Given the description of an element on the screen output the (x, y) to click on. 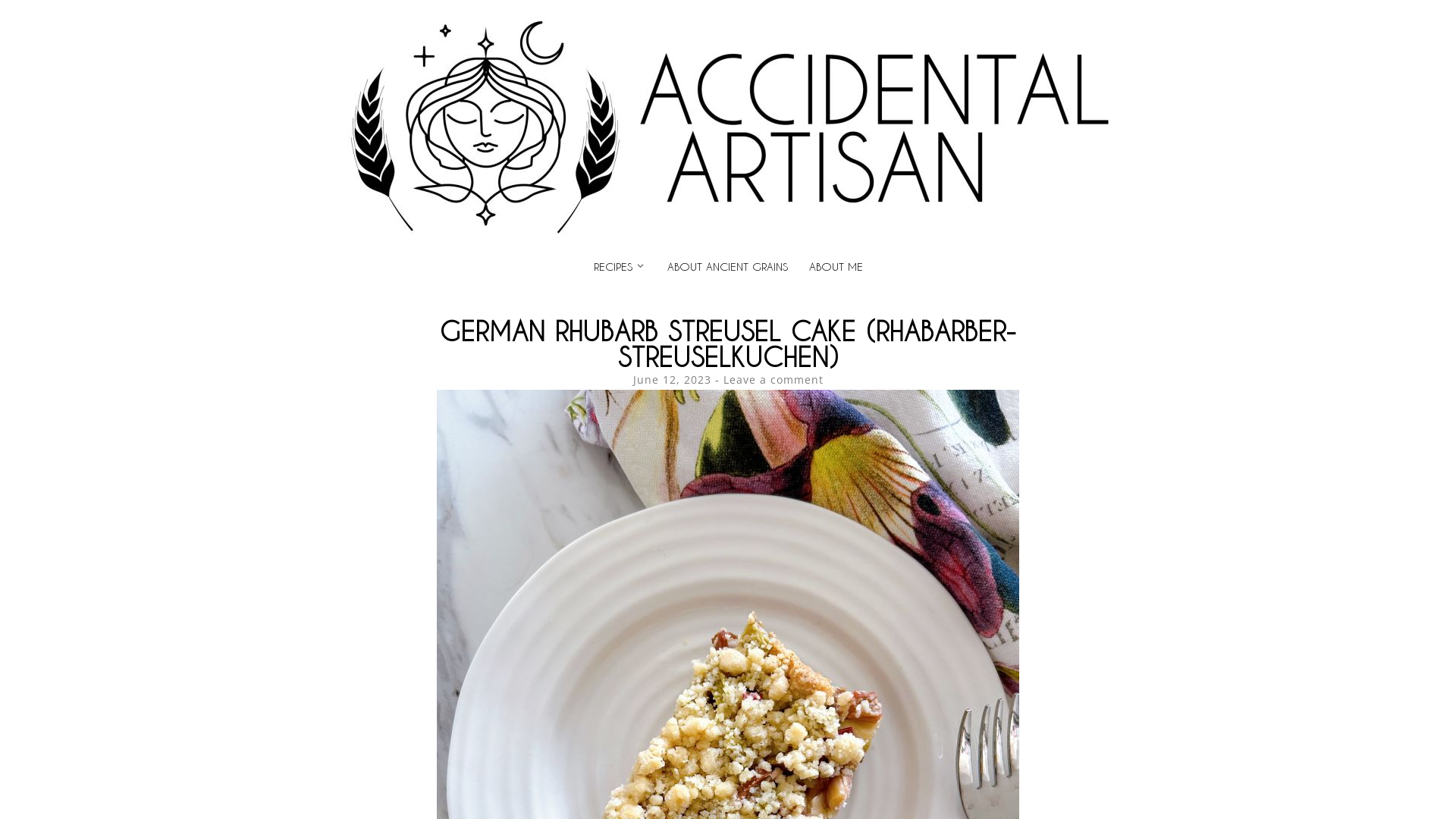
RECIPES Element type: text (612, 266)
Leave a comment Element type: text (773, 379)
ACCIDENTAL ARTISAN Element type: text (506, 47)
June 12, 2023 Element type: text (671, 379)
GERMAN RHUBARB STREUSEL CAKE (RHABARBER-STREUSELKUCHEN) Element type: text (727, 343)
ABOUT ME Element type: text (835, 266)
SKIP TO CONTENT Element type: text (329, 255)
ABOUT ANCIENT GRAINS Element type: text (727, 266)
